Given the description of an element on the screen output the (x, y) to click on. 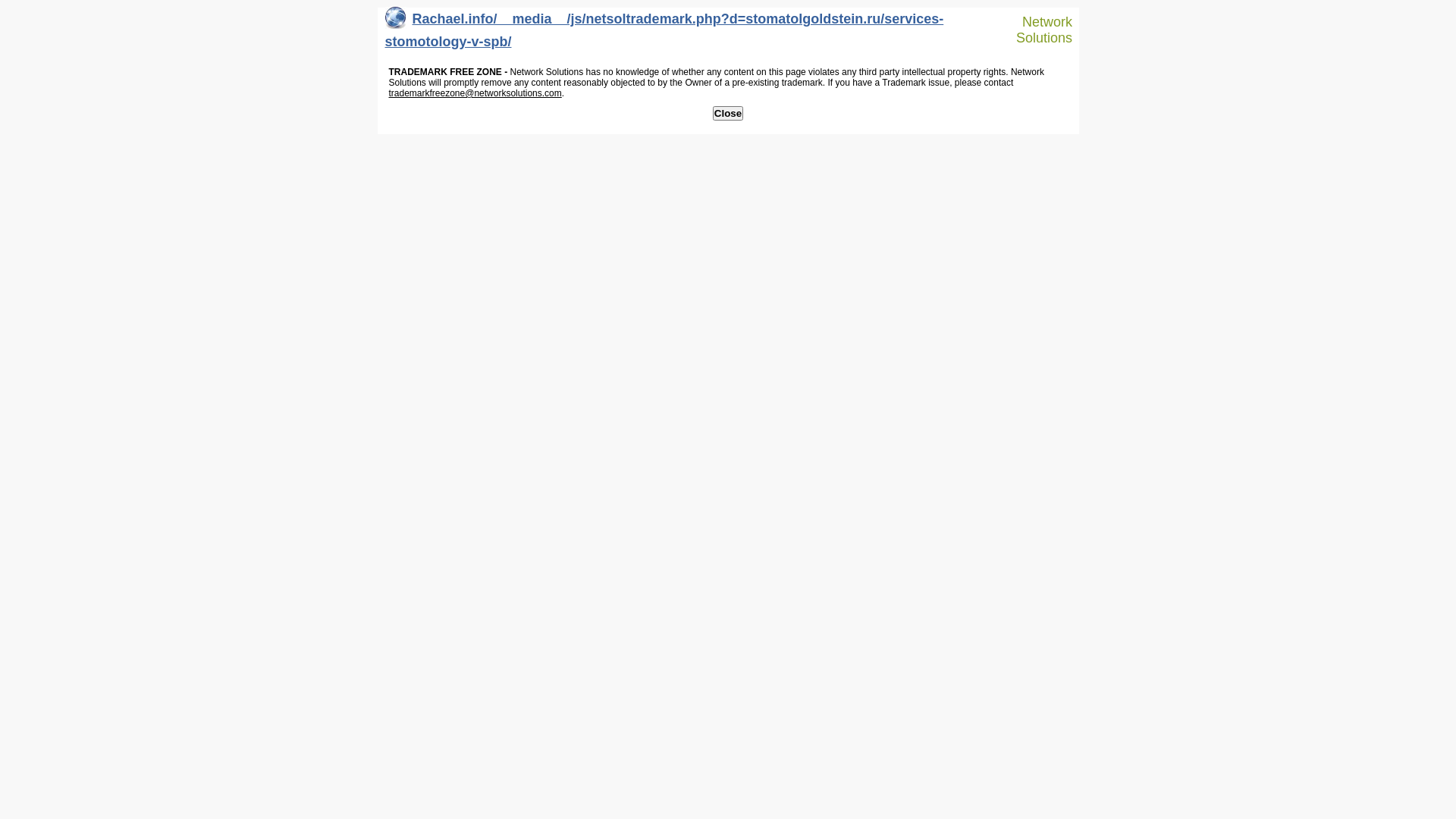
Close Element type: text (727, 113)
Network Solutions Element type: text (1037, 29)
trademarkfreezone@networksolutions.com Element type: text (474, 92)
